Given the description of an element on the screen output the (x, y) to click on. 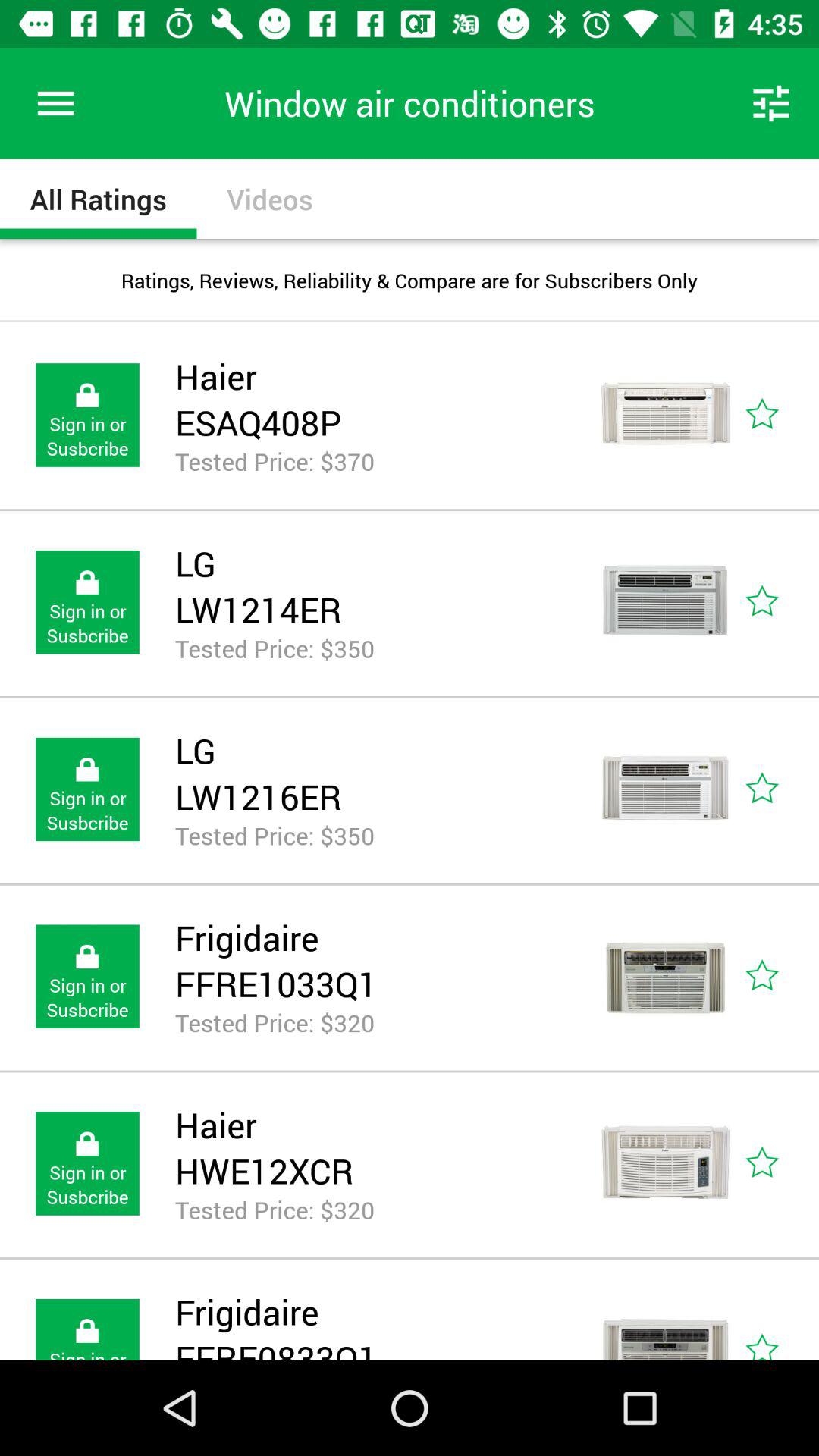
favorite icon (779, 415)
